Given the description of an element on the screen output the (x, y) to click on. 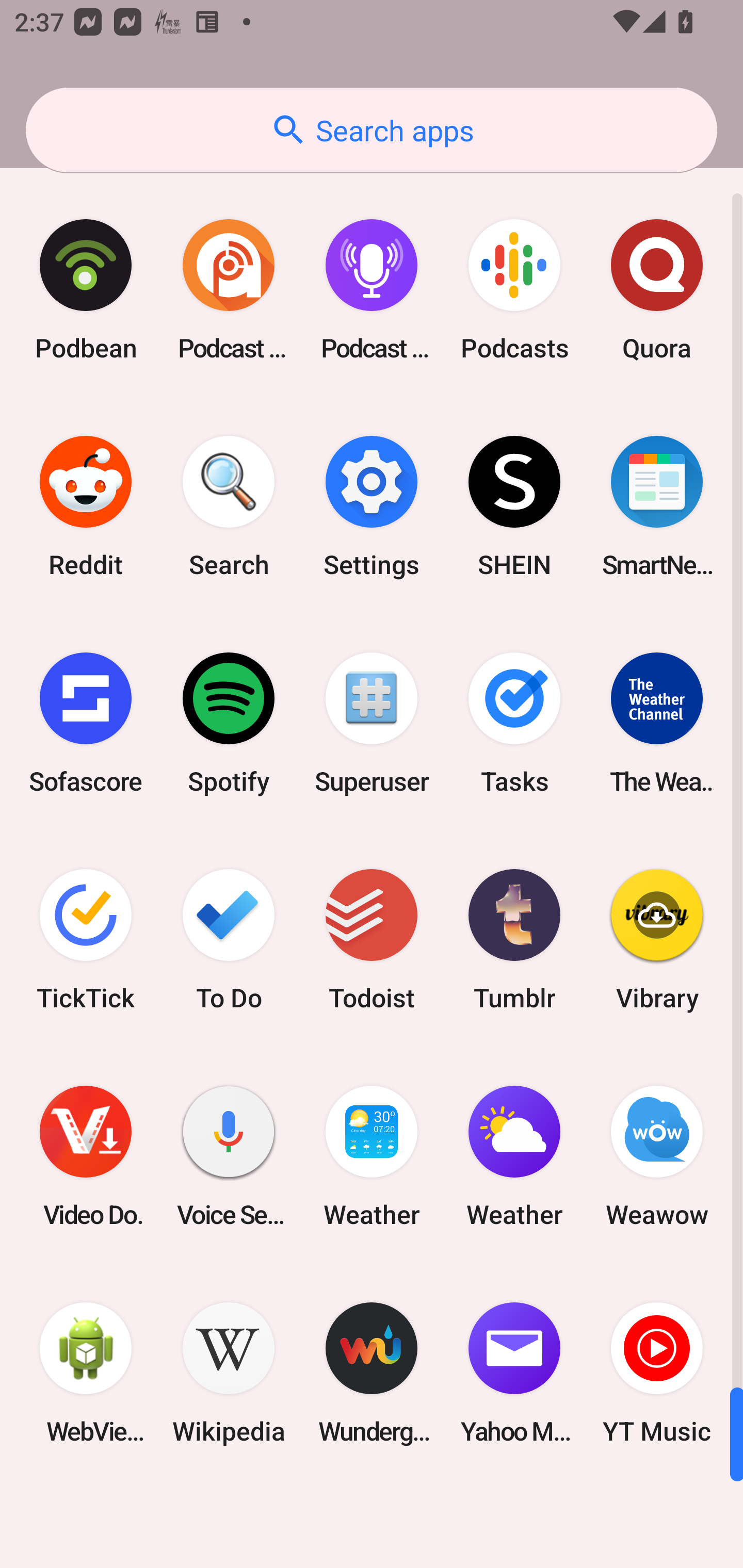
  Search apps (371, 130)
Podbean (85, 289)
Podcast Addict (228, 289)
Podcast Player (371, 289)
Podcasts (514, 289)
Quora (656, 289)
Reddit (85, 506)
Search (228, 506)
Settings (371, 506)
SHEIN (514, 506)
SmartNews (656, 506)
Sofascore (85, 722)
Spotify (228, 722)
Superuser (371, 722)
Tasks (514, 722)
The Weather Channel (656, 722)
TickTick (85, 939)
To Do (228, 939)
Todoist (371, 939)
Tumblr (514, 939)
Vibrary (656, 939)
Video Downloader & Ace Player (85, 1156)
Voice Search (228, 1156)
Weather (371, 1156)
Weather (514, 1156)
Weawow (656, 1156)
WebView Browser Tester (85, 1373)
Wikipedia (228, 1373)
Wunderground (371, 1373)
Yahoo Mail (514, 1373)
YT Music (656, 1373)
